Given the description of an element on the screen output the (x, y) to click on. 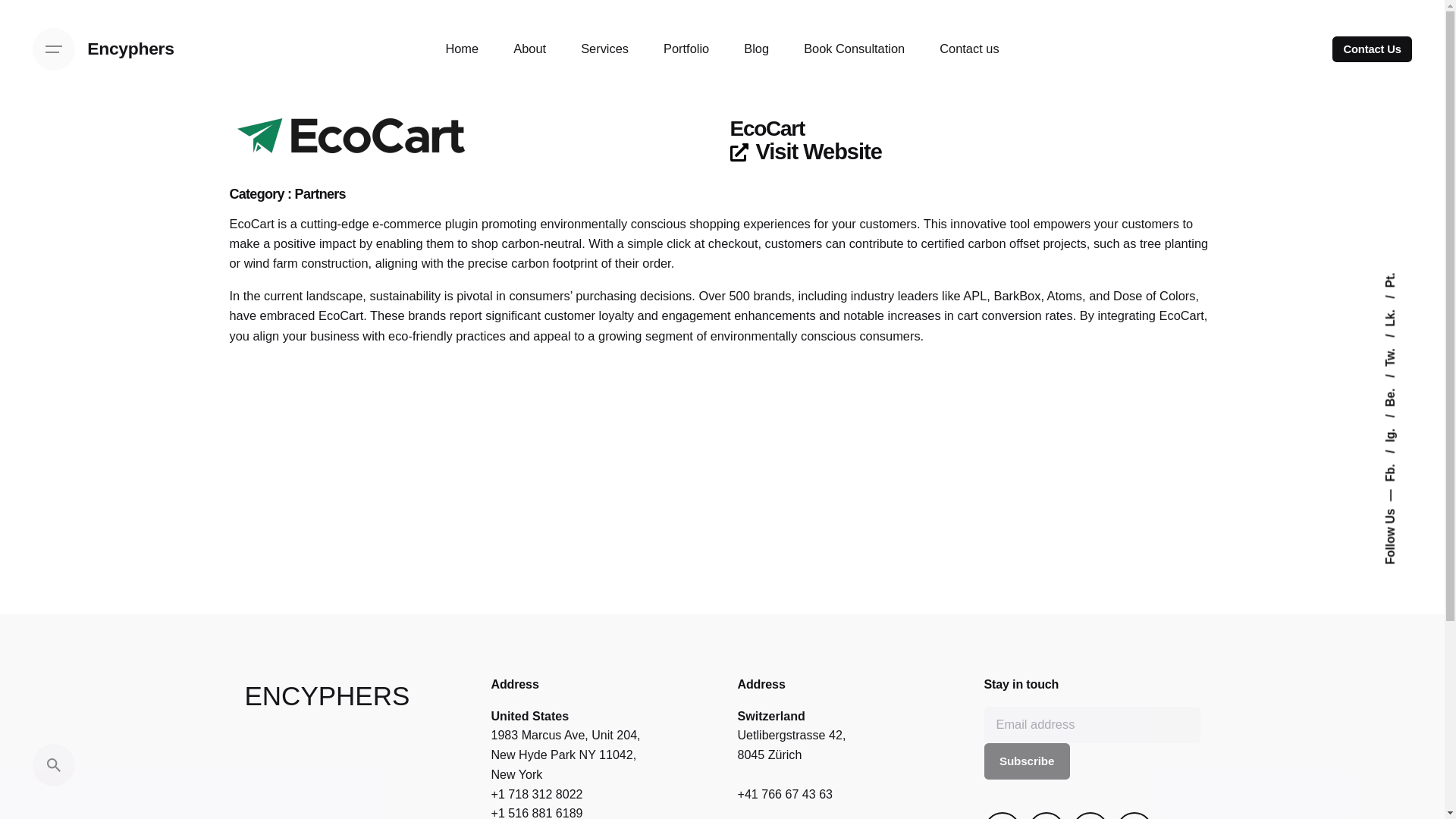
About (529, 49)
Tw. (1399, 340)
Services (604, 49)
Pt. (1390, 278)
Subscribe (1027, 760)
Ig. (1396, 420)
Encyphers (130, 48)
Lk. (1398, 300)
Be. (1399, 380)
Home (462, 49)
Fb. (1399, 455)
